Given the description of an element on the screen output the (x, y) to click on. 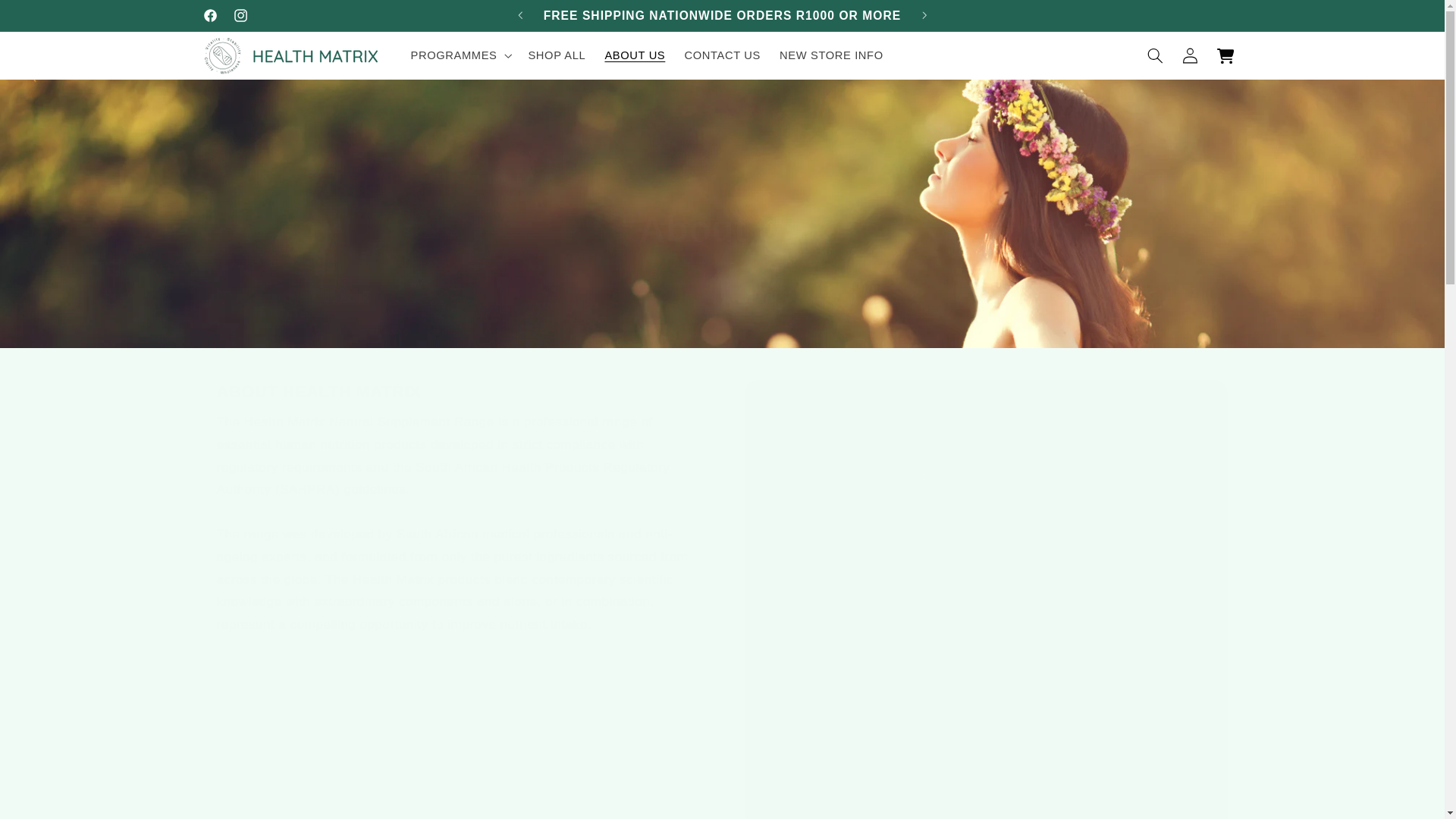
Skip to content (48, 18)
Facebook (210, 15)
Cart (1225, 54)
Instagram (240, 15)
ABOUT US (635, 55)
Log in (1190, 54)
NEW STORE INFO (831, 55)
SHOP ALL (556, 55)
